Given the description of an element on the screen output the (x, y) to click on. 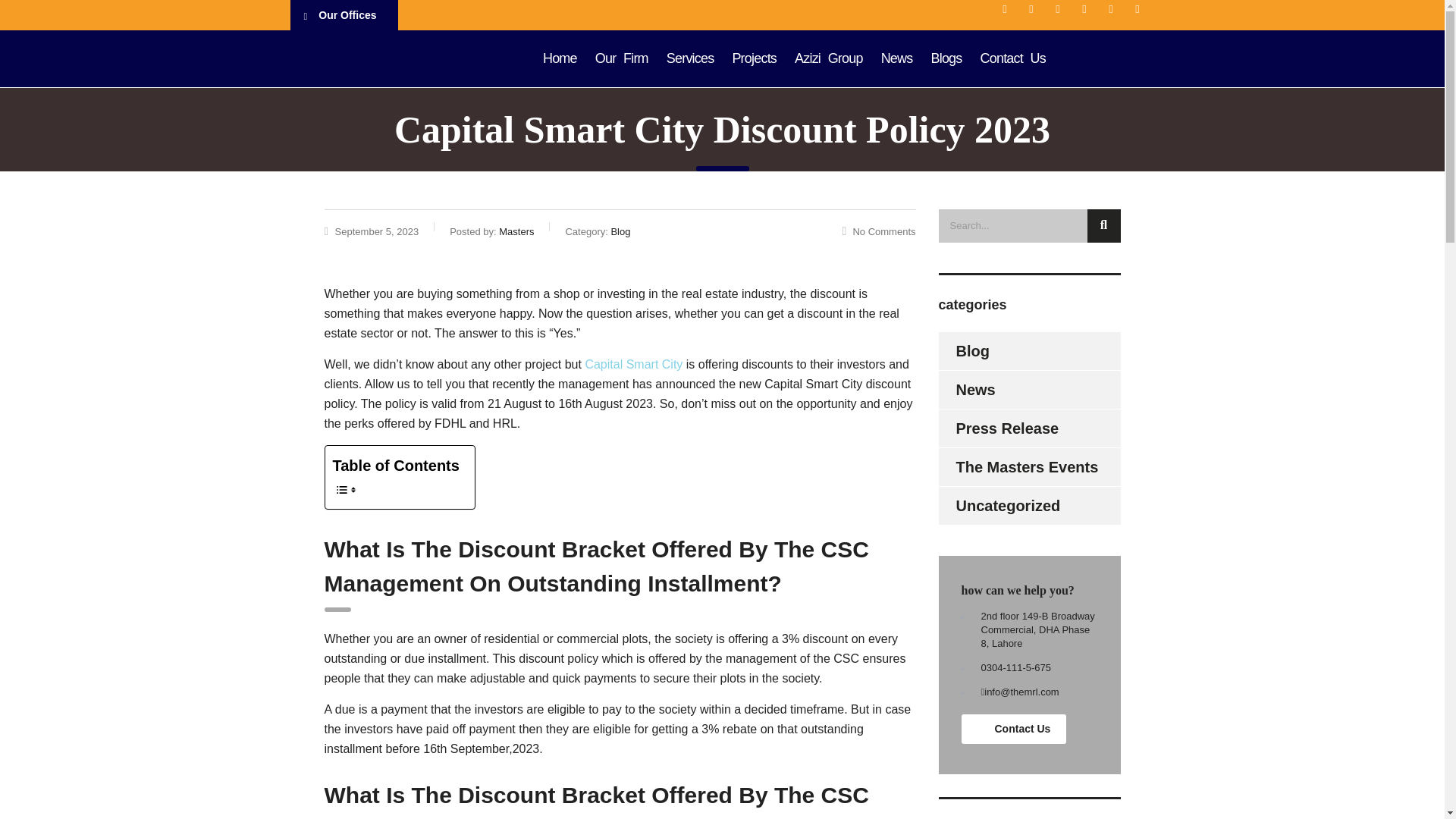
Our Offices (343, 15)
Home (560, 58)
Contact Us (1013, 728)
Azizi Group (829, 58)
Our Firm (622, 58)
Blogs (946, 58)
News (896, 58)
Contact Us (1012, 58)
Services (690, 58)
Projects (754, 58)
